Given the description of an element on the screen output the (x, y) to click on. 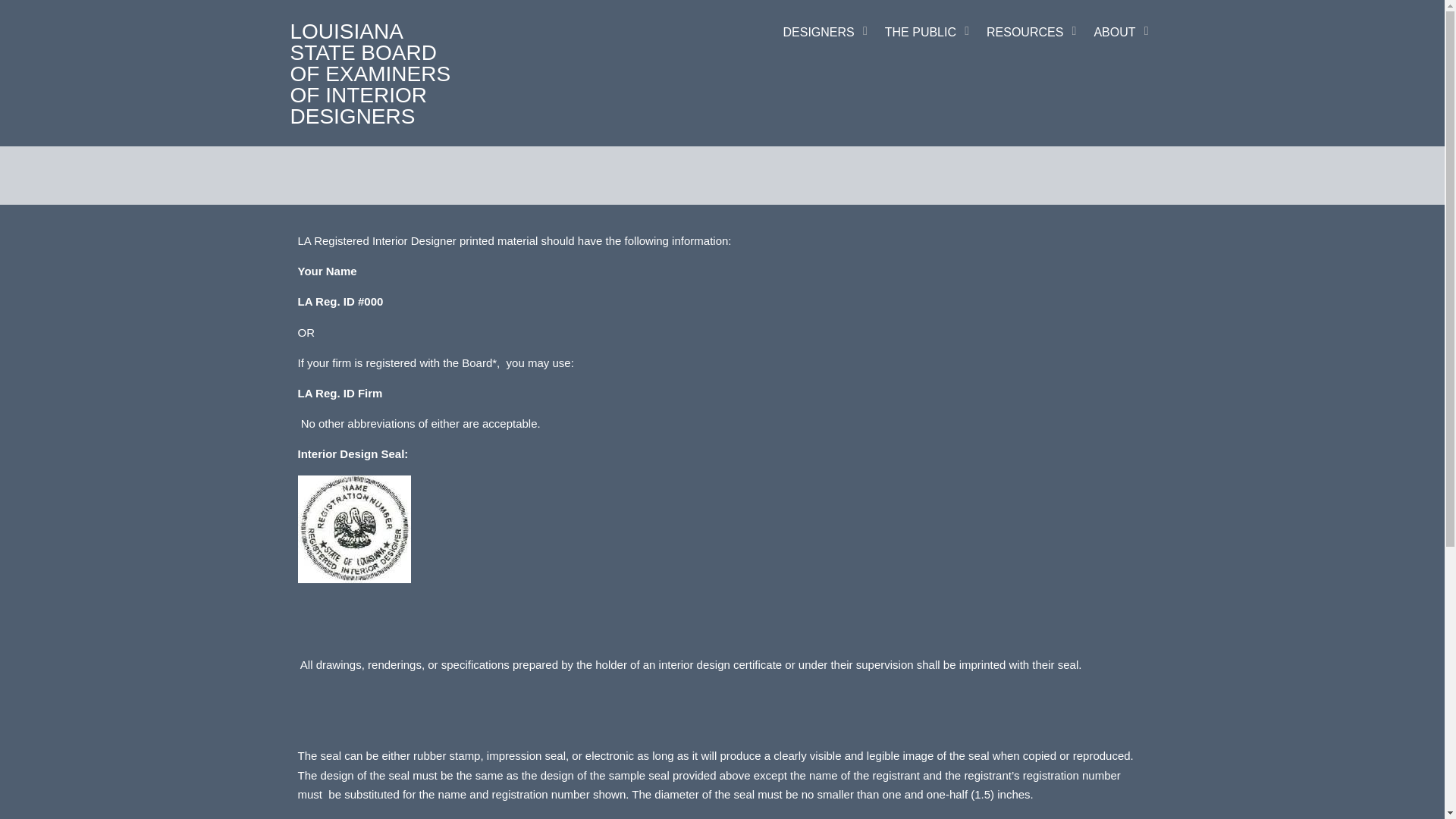
RESOURCES (1028, 32)
Search (802, 333)
DESIGNERS (822, 32)
THE PUBLIC (924, 32)
LOUISIANA STATE BOARD OF EXAMINERS OF INTERIOR DESIGNERS (369, 73)
ABOUT (1117, 32)
